Given the description of an element on the screen output the (x, y) to click on. 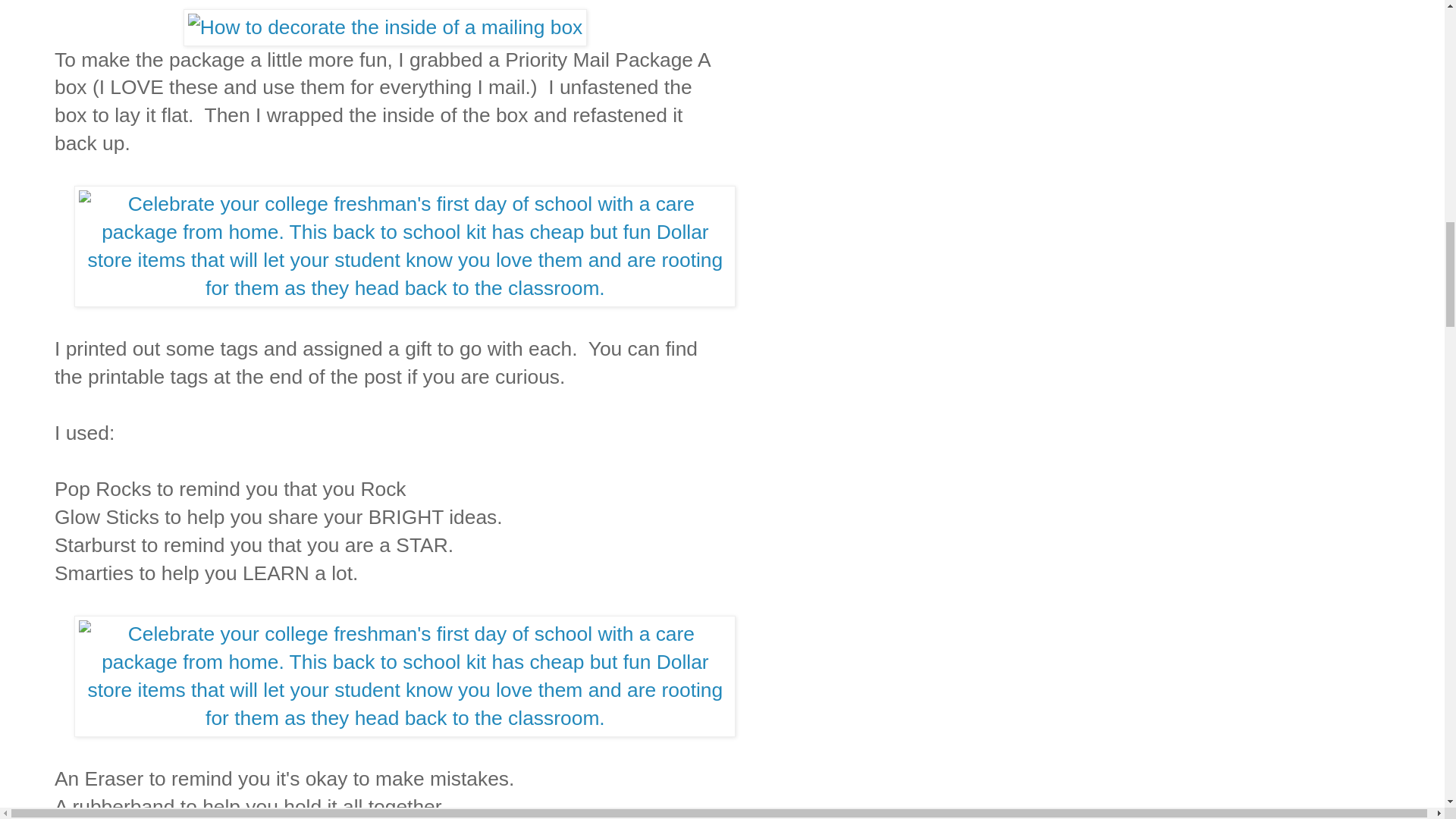
How to decorate the inside of a mailing box (385, 27)
